Given the description of an element on the screen output the (x, y) to click on. 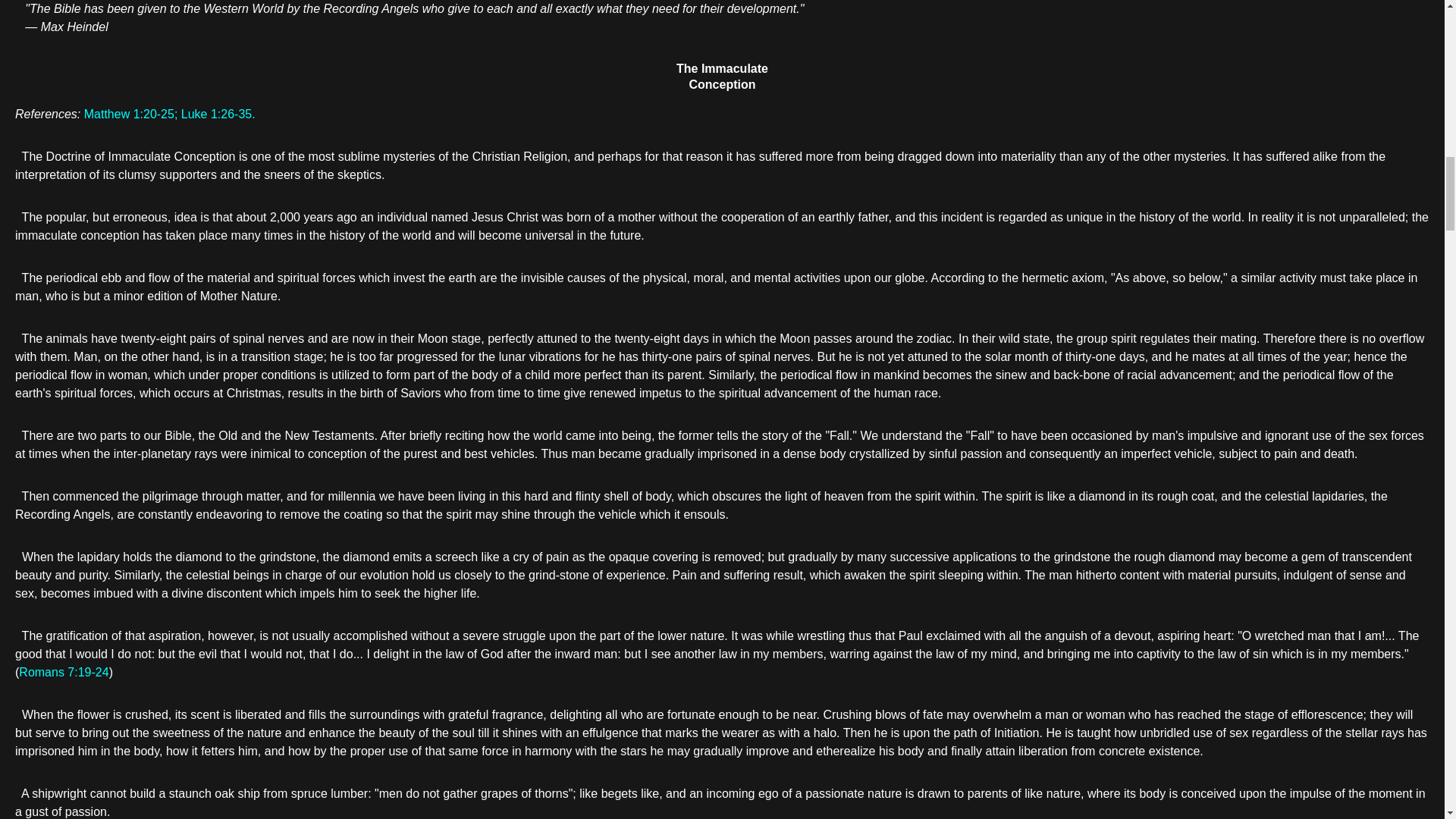
Romans 7:19-24 (62, 671)
Luke 1:26-35. (218, 113)
Matthew 1:20-25; (130, 113)
